Given the description of an element on the screen output the (x, y) to click on. 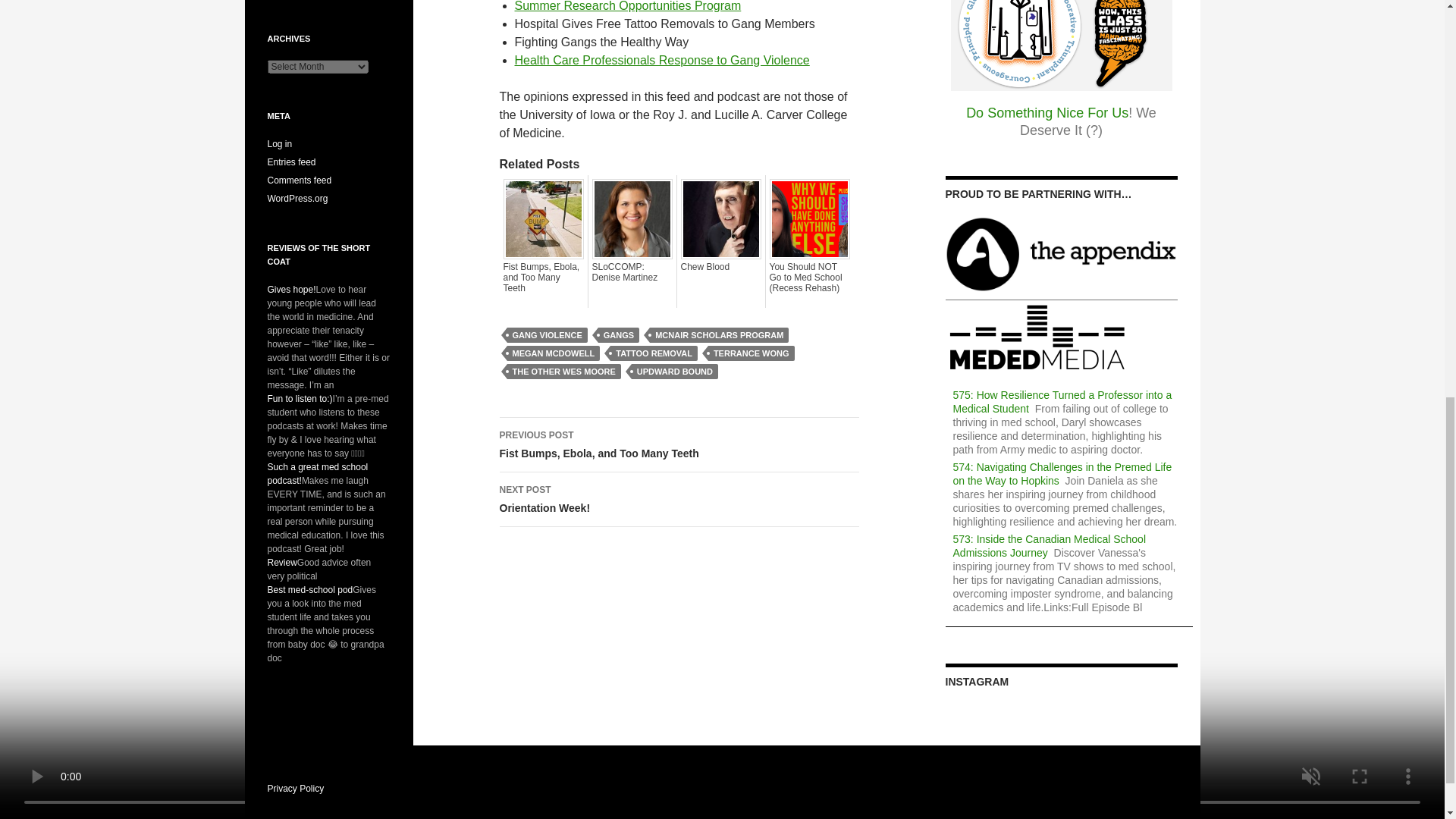
573: Inside the Canadian Medical School Admissions Journey (1050, 545)
MCNAIR SCHOLARS PROGRAM (719, 335)
GANG VIOLENCE (546, 335)
MEGAN MCDOWELL (552, 353)
Fist Bumps, Ebola, and Too Many Teeth (543, 277)
Summer Research Opportunities Program (627, 6)
SLoCCOMP: Denise Martinez (631, 271)
Health Care Professionals Response to Gang Violence (661, 60)
